Given the description of an element on the screen output the (x, y) to click on. 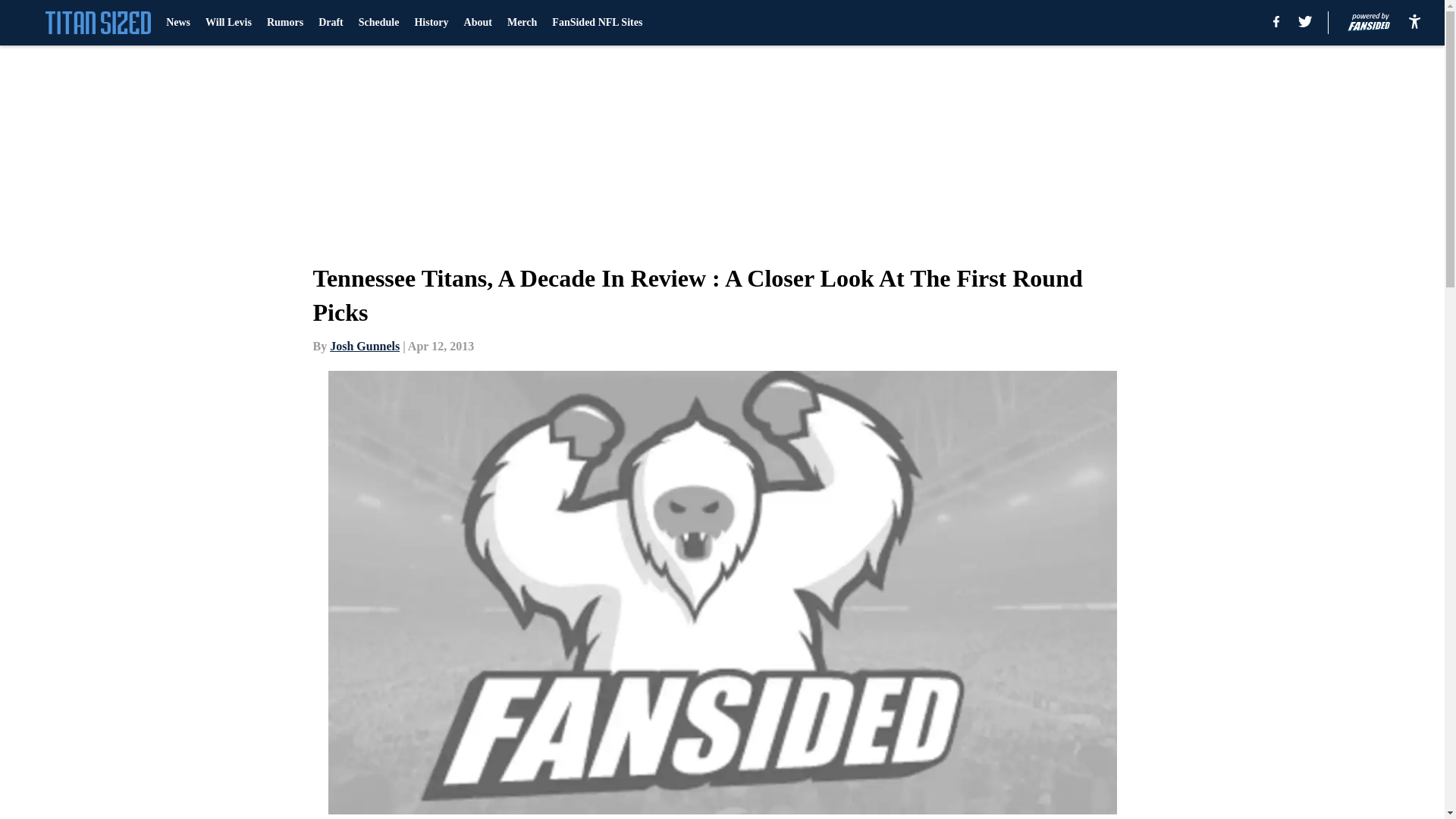
Will Levis (228, 22)
Draft (330, 22)
About (478, 22)
FanSided NFL Sites (596, 22)
Josh Gunnels (364, 345)
Merch (521, 22)
History (430, 22)
News (177, 22)
Rumors (284, 22)
Schedule (378, 22)
